Given the description of an element on the screen output the (x, y) to click on. 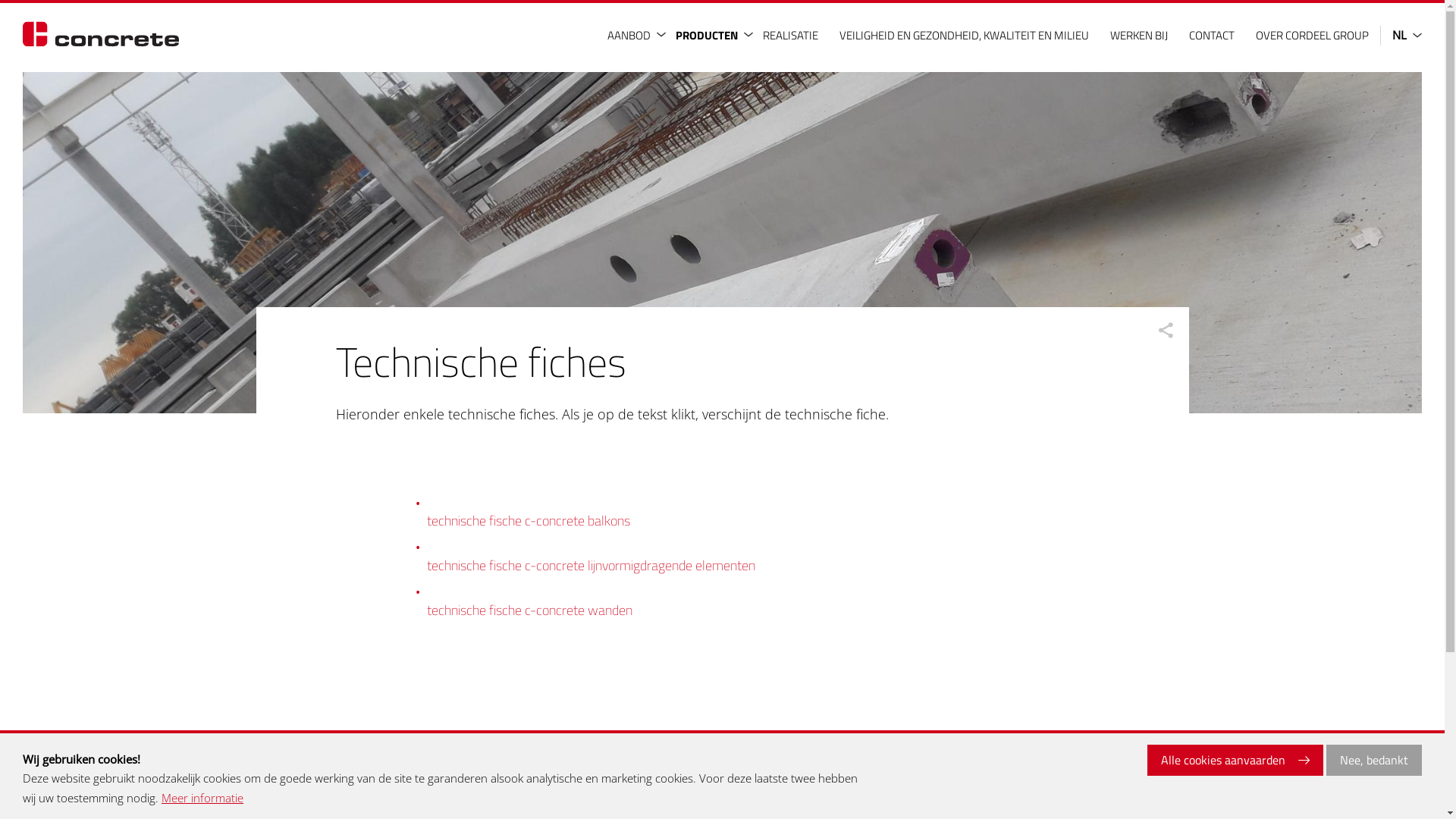
OVER CORDEEL GROUP Element type: text (1314, 35)
VEILIGHEID EN GEZONDHEID, KWALITEIT EN MILIEU Element type: text (965, 35)
technische fische c-concrete lijnvormigdragende elementen Element type: text (590, 565)
WERKEN BIJ Element type: text (1140, 35)
toggle Element type: text (622, 34)
REALISATIE Element type: text (792, 35)
Alle cookies aanvaarden Element type: text (1235, 760)
NL Element type: text (1400, 35)
Nee, bedankt Element type: text (1373, 760)
technische fische c-concrete balkons Element type: text (527, 520)
technische fische c-concrete wanden Element type: text (528, 609)
Share this on social media Element type: text (1166, 329)
Skip to main content Element type: text (0, 0)
Meer informatie Element type: text (202, 798)
kolommen stockage Element type: hover (721, 242)
CONTACT Element type: text (1213, 35)
toggle Element type: text (710, 34)
